Given the description of an element on the screen output the (x, y) to click on. 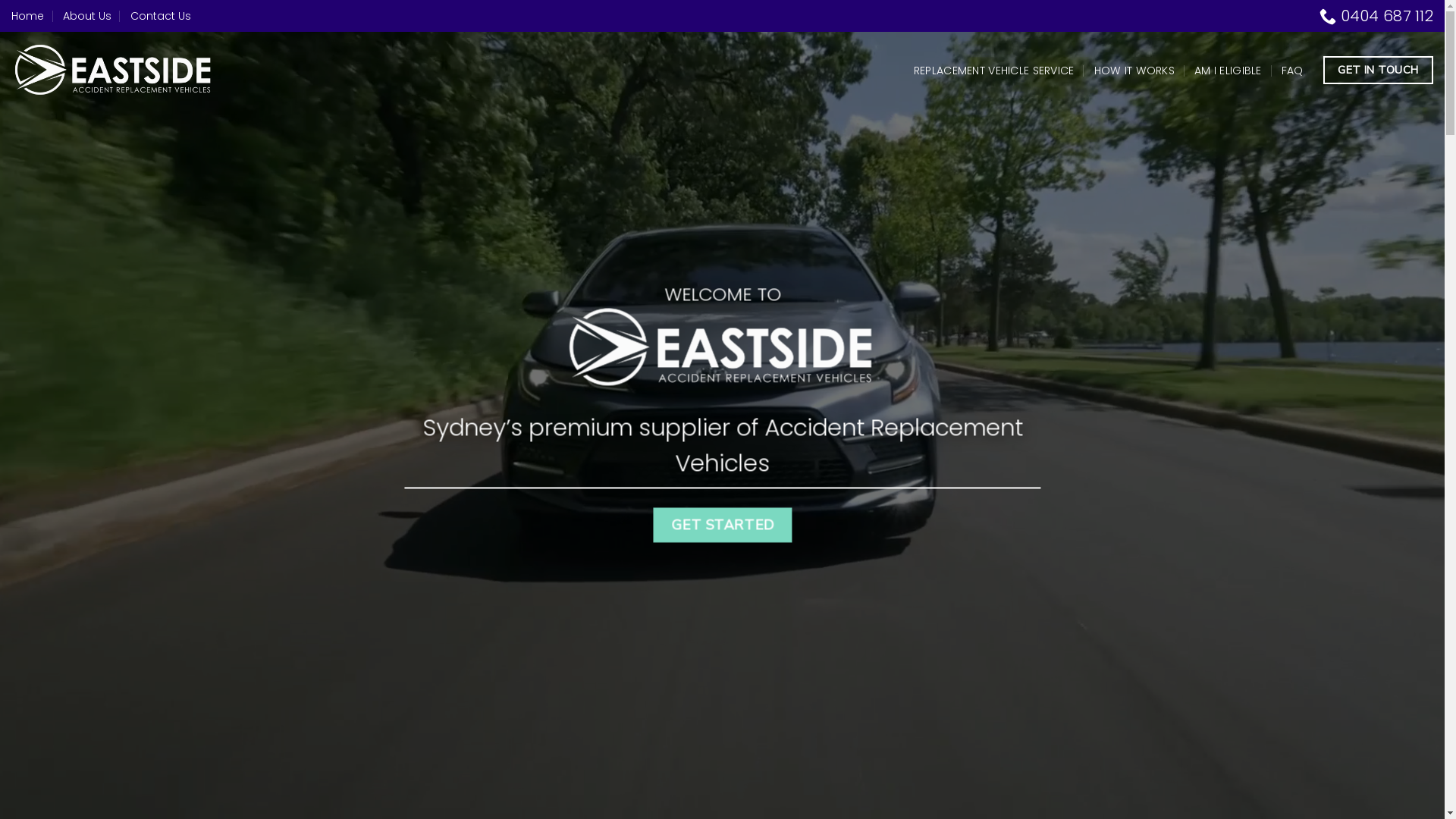
AM I ELIGIBLE Element type: text (1227, 69)
GET IN TOUCH Element type: text (1378, 70)
HOW IT WORKS Element type: text (1134, 69)
0404 687 112 Element type: text (1376, 15)
Contact Us Element type: text (160, 15)
GET STARTED Element type: text (721, 524)
About Us Element type: text (86, 15)
REPLACEMENT VEHICLE SERVICE Element type: text (993, 69)
FAQ Element type: text (1292, 69)
Home Element type: text (27, 15)
